Given the description of an element on the screen output the (x, y) to click on. 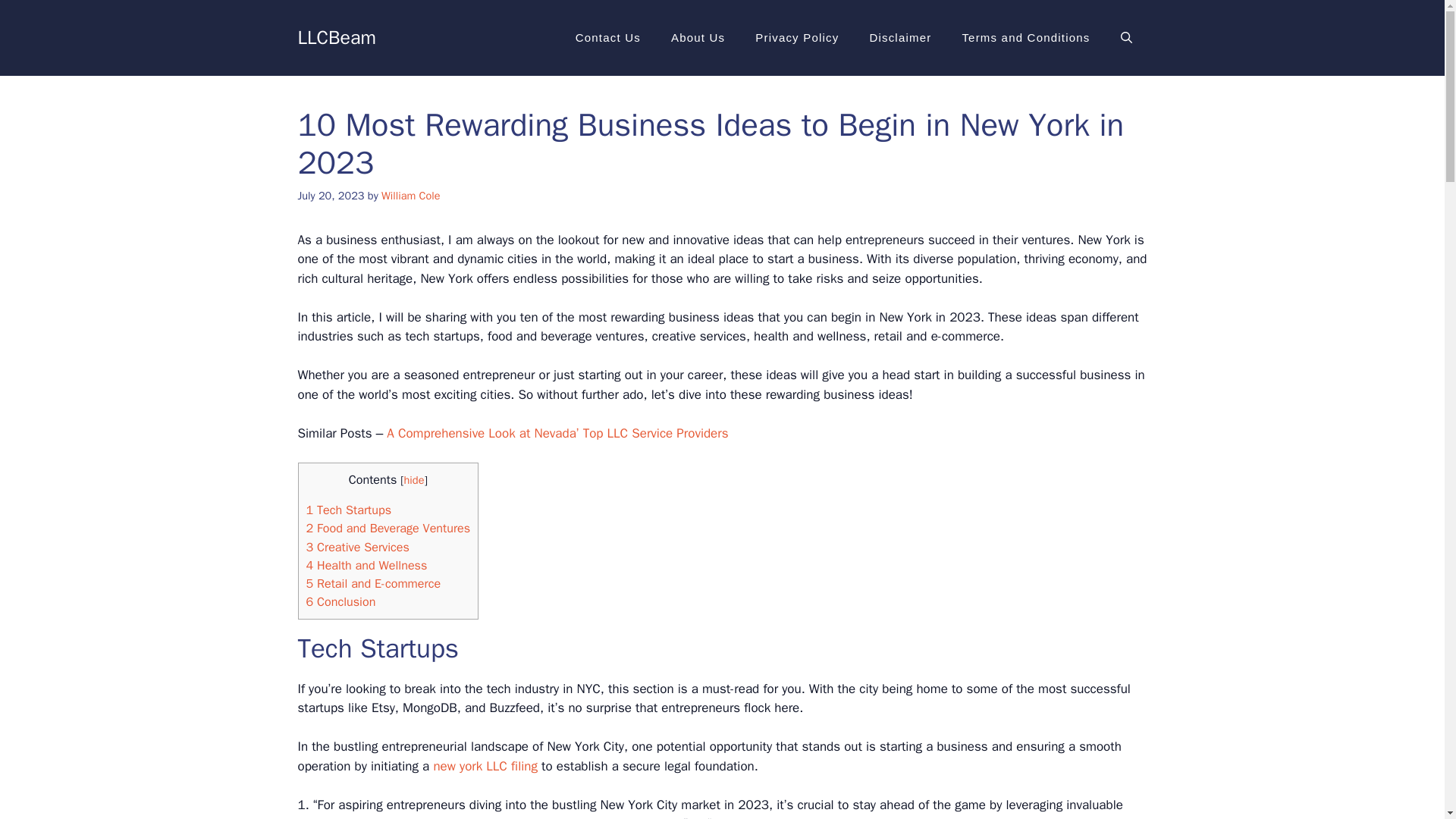
4 Health and Wellness (366, 565)
About Us (697, 37)
William Cole (411, 195)
1 Tech Startups (348, 509)
2 Food and Beverage Ventures (387, 528)
Privacy Policy (796, 37)
new york LLC service for entrepreneurs (570, 817)
5 Retail and E-commerce (373, 583)
A Comprehensive Look at New York' Top LLC Service Providers (570, 817)
